Given the description of an element on the screen output the (x, y) to click on. 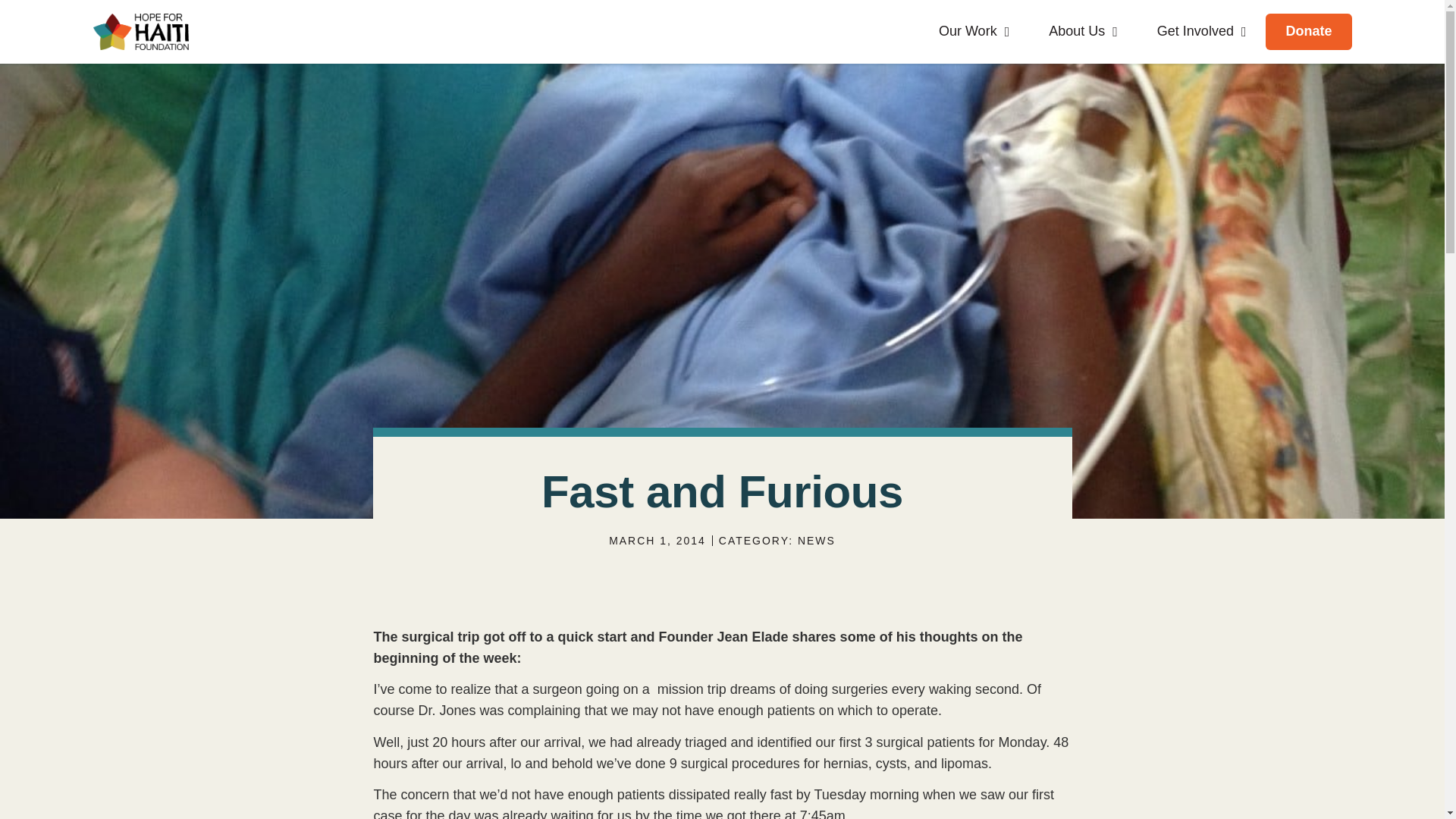
About Us (1083, 31)
NEWS (816, 540)
Donate (1308, 31)
Our Work (973, 31)
Get Involved (1201, 31)
